Given the description of an element on the screen output the (x, y) to click on. 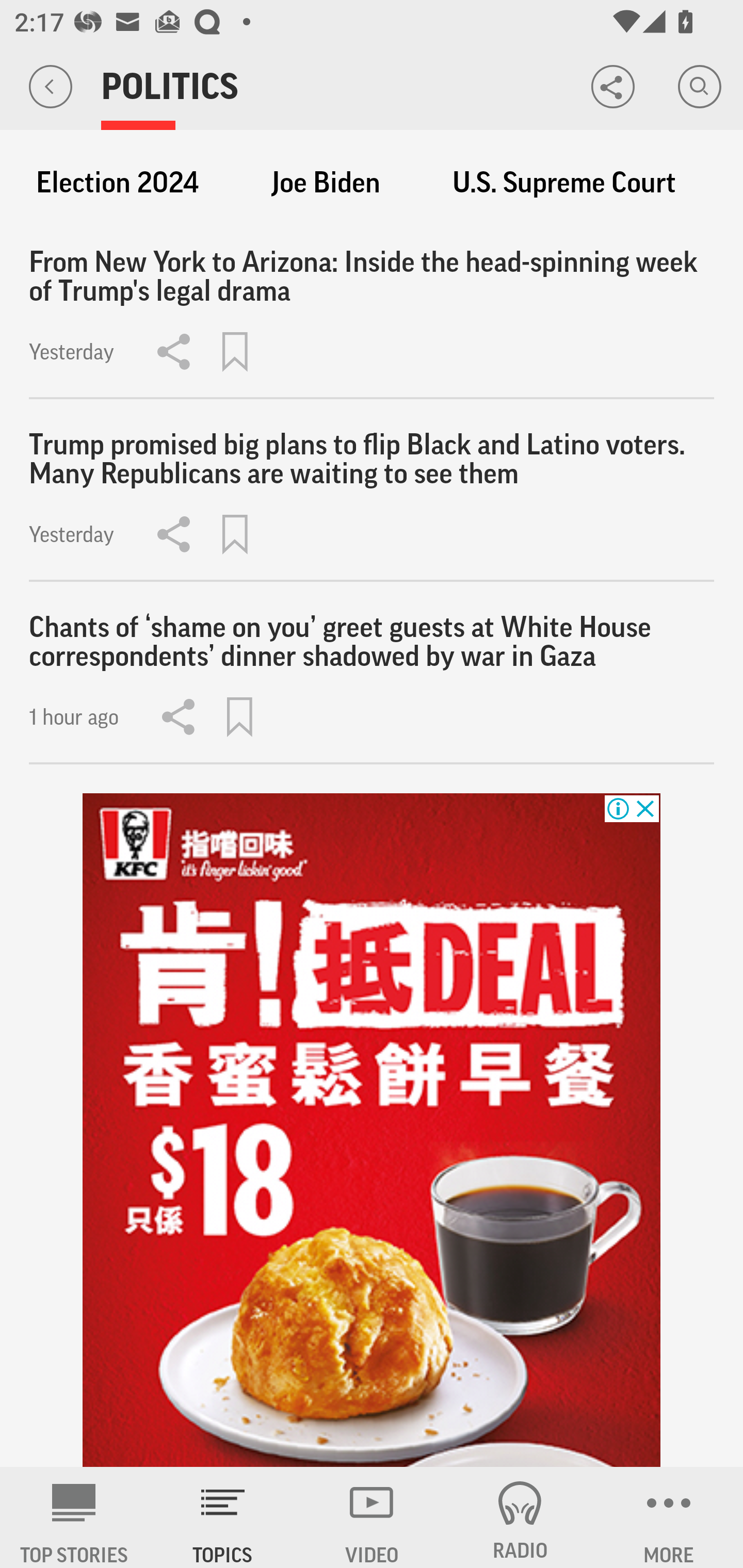
Election 2024 (116, 182)
Joe Biden (325, 182)
U.S. Supreme Court (564, 182)
Advertisement (371, 1130)
AP News TOP STORIES (74, 1517)
TOPICS (222, 1517)
VIDEO (371, 1517)
RADIO (519, 1517)
MORE (668, 1517)
